Given the description of an element on the screen output the (x, y) to click on. 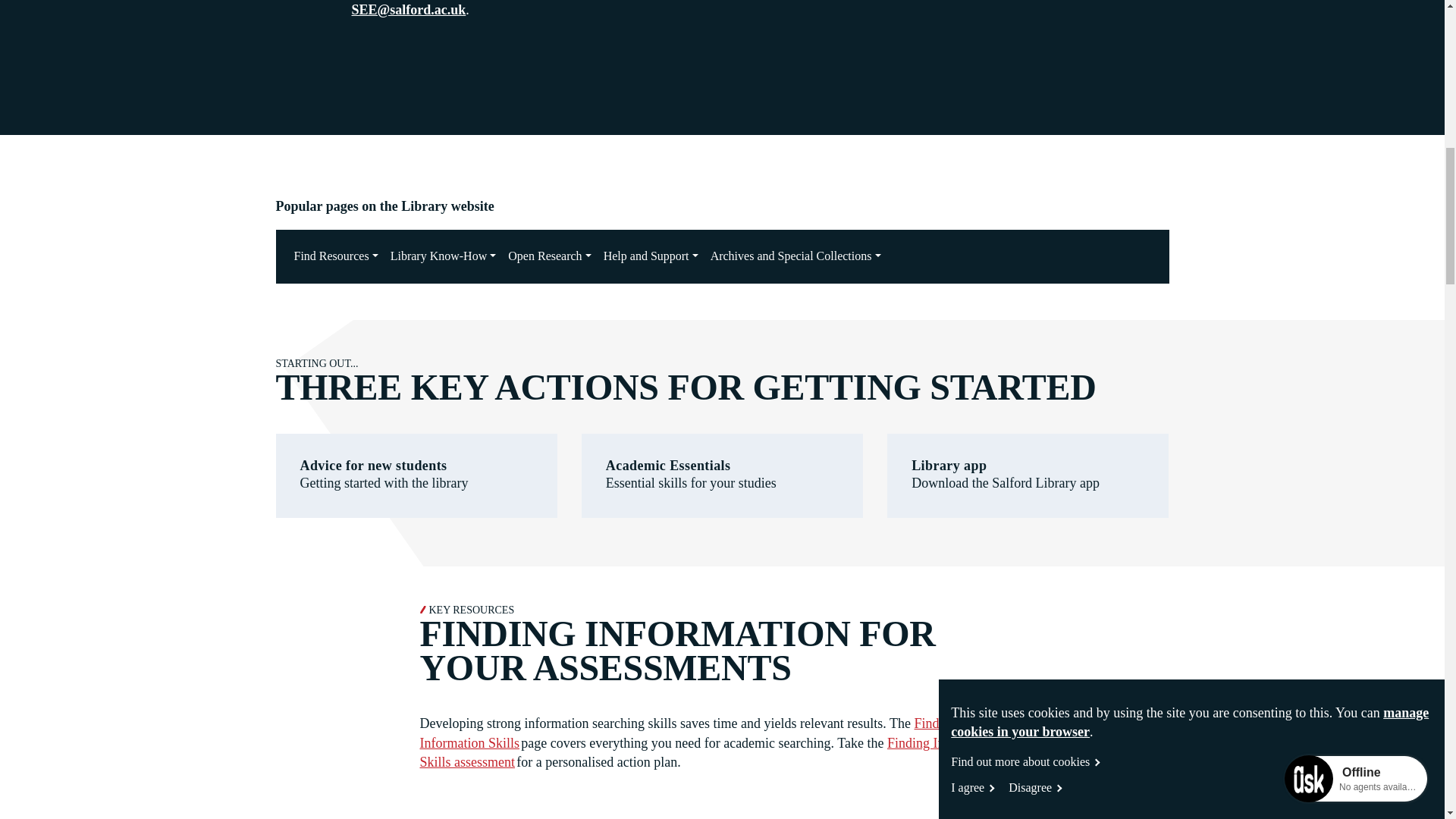
Finding information (688, 732)
